Given the description of an element on the screen output the (x, y) to click on. 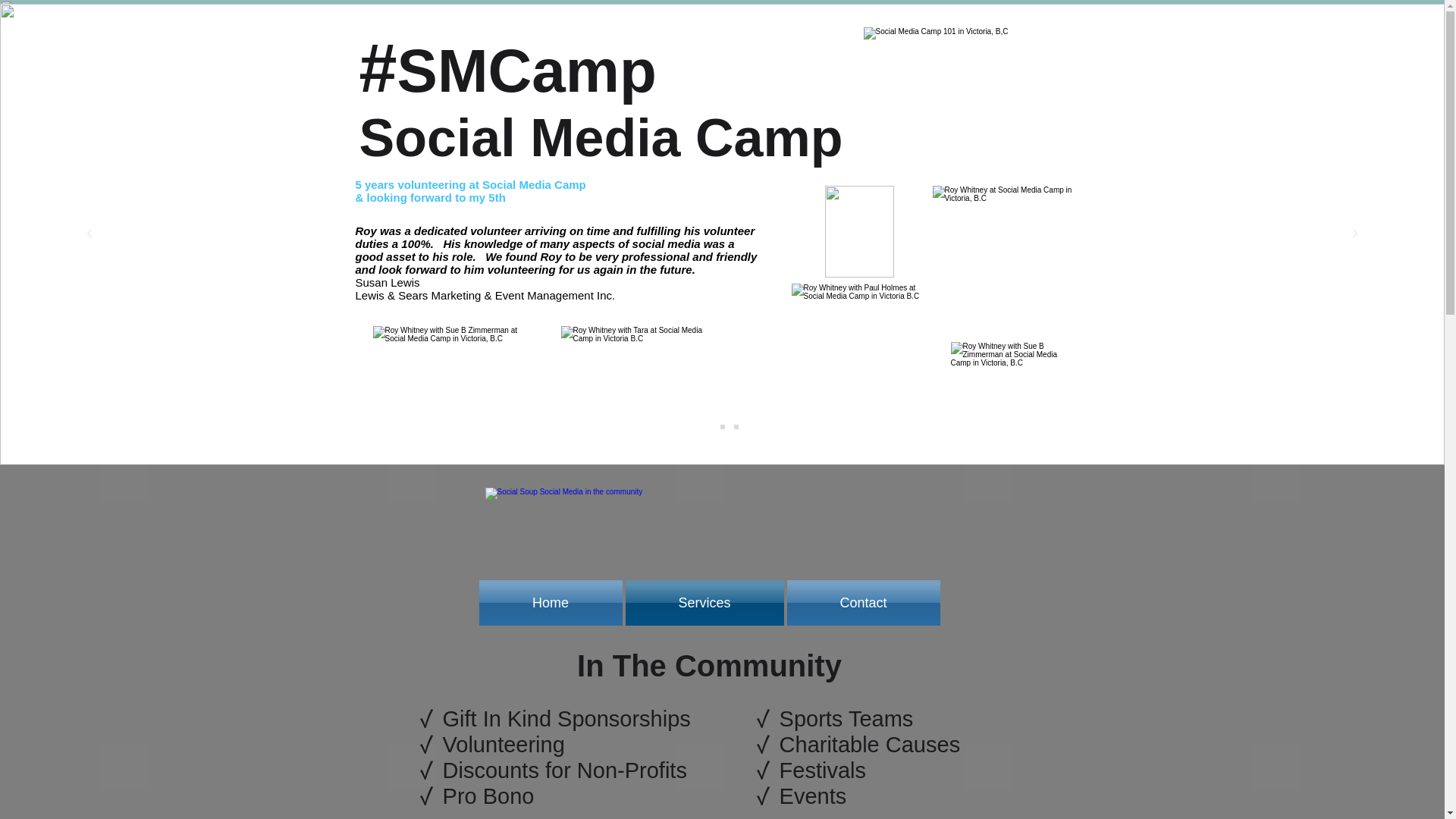
Contact (863, 602)
Home (551, 602)
Services (703, 602)
